Given the description of an element on the screen output the (x, y) to click on. 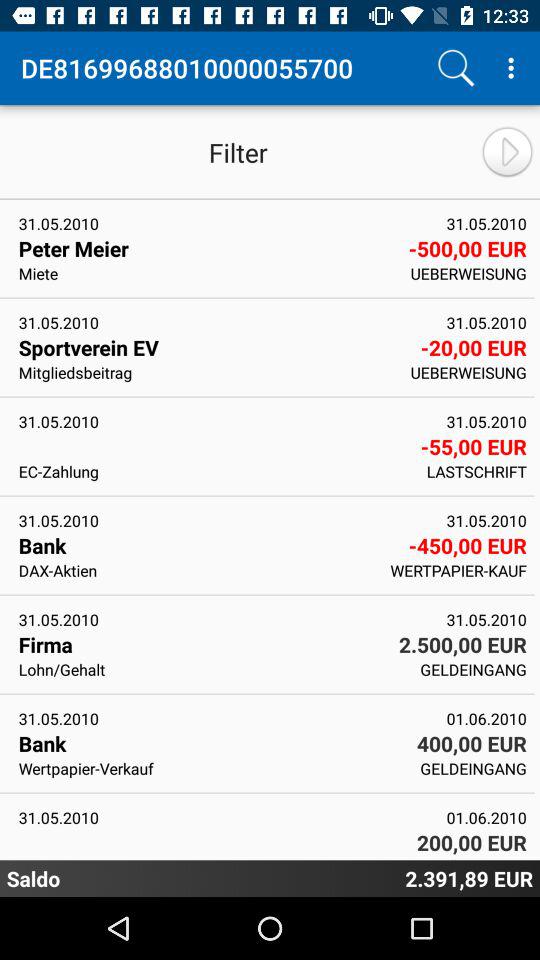
launch the dax-aktien app (197, 570)
